Given the description of an element on the screen output the (x, y) to click on. 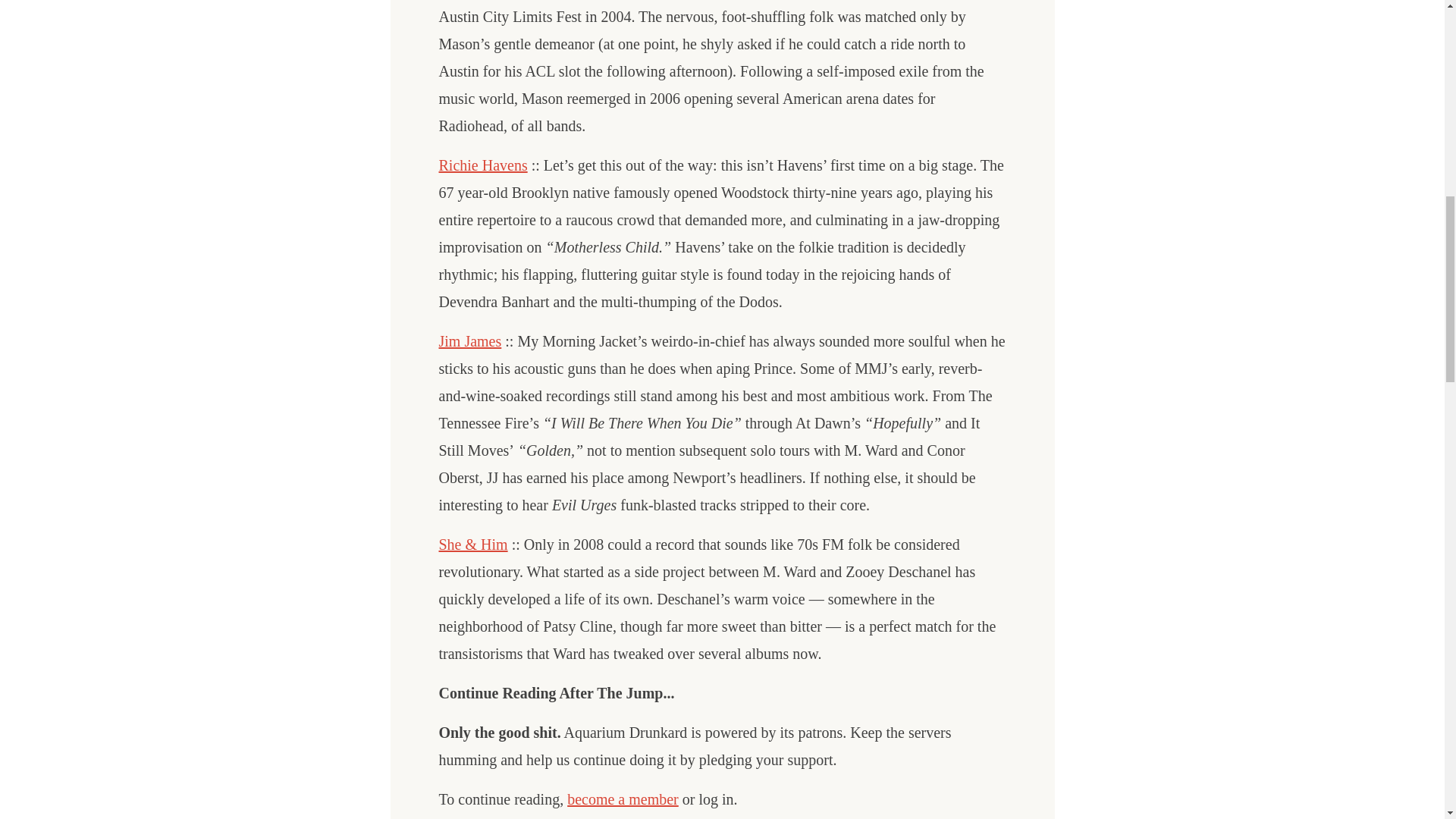
Richie Havens (482, 165)
Jim James (469, 340)
become a member (622, 799)
